Given the description of an element on the screen output the (x, y) to click on. 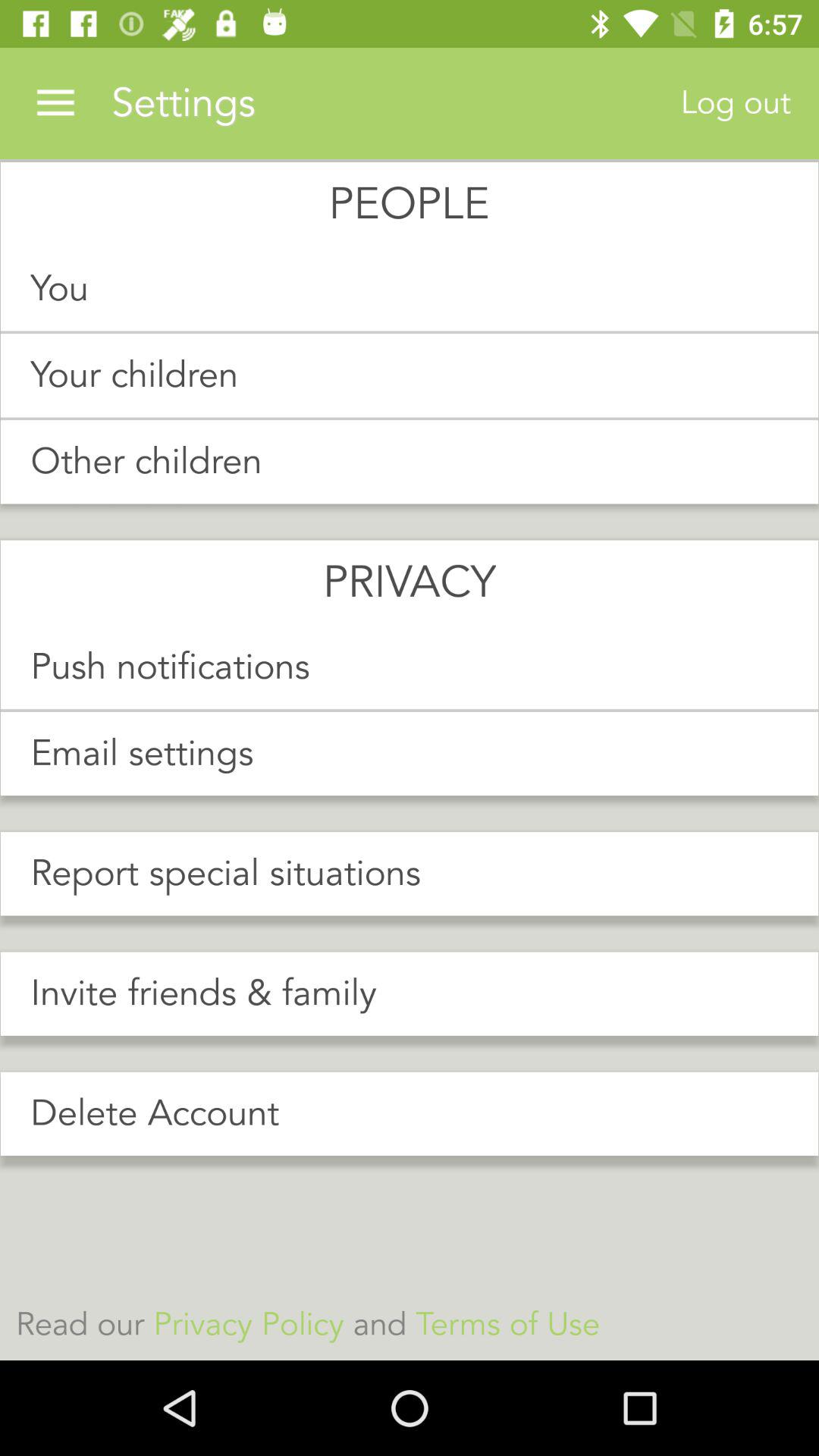
flip until your children icon (409, 375)
